Given the description of an element on the screen output the (x, y) to click on. 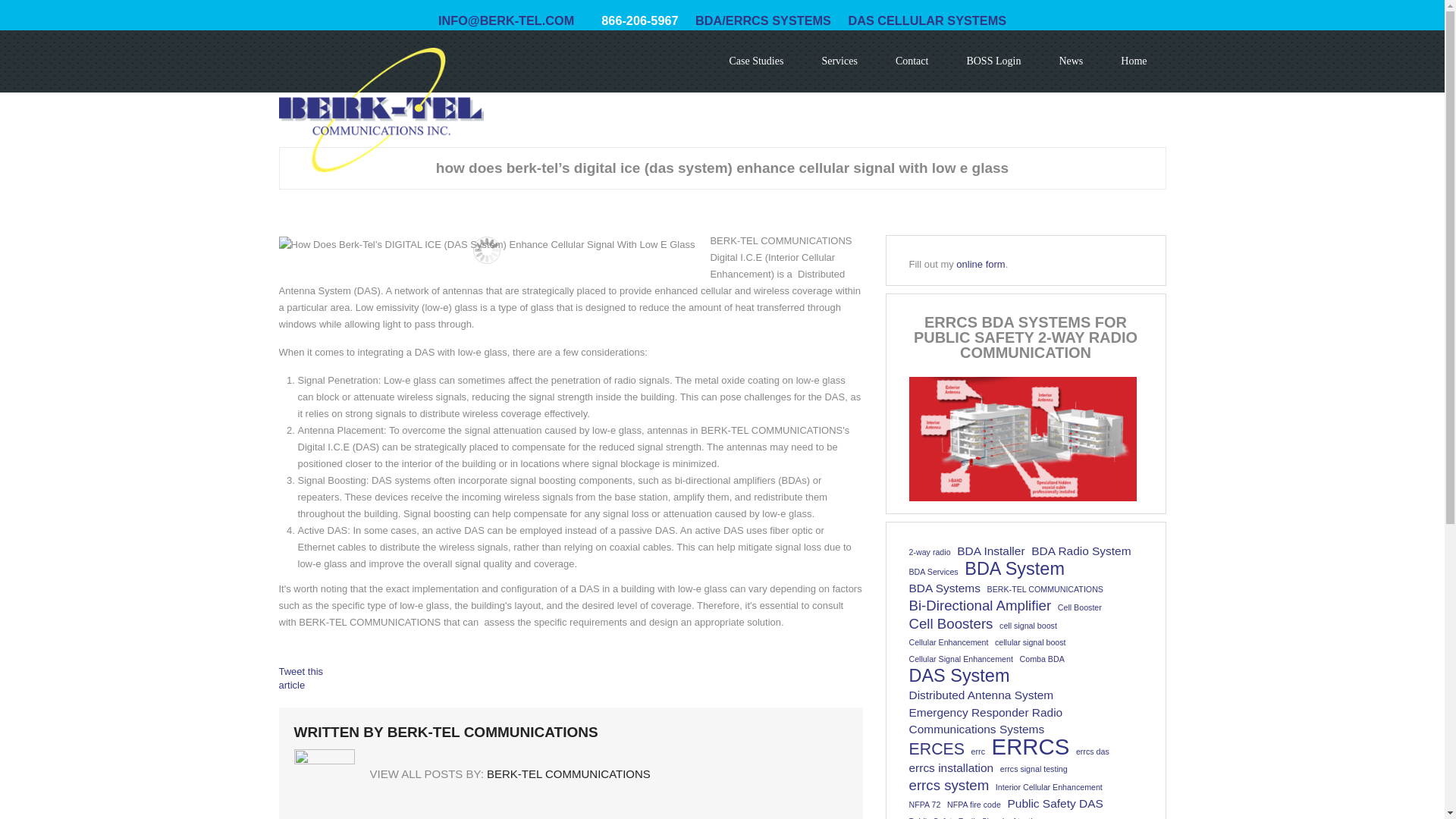
Cell Boosters (950, 623)
errcs system (948, 785)
errcs signal testing (1033, 768)
BDA Systems (943, 588)
Communications Solutions (381, 109)
Cellular Enhancement (948, 641)
Services (839, 61)
Home (1134, 61)
errcs das (1092, 751)
BDA Installer (990, 550)
